Given the description of an element on the screen output the (x, y) to click on. 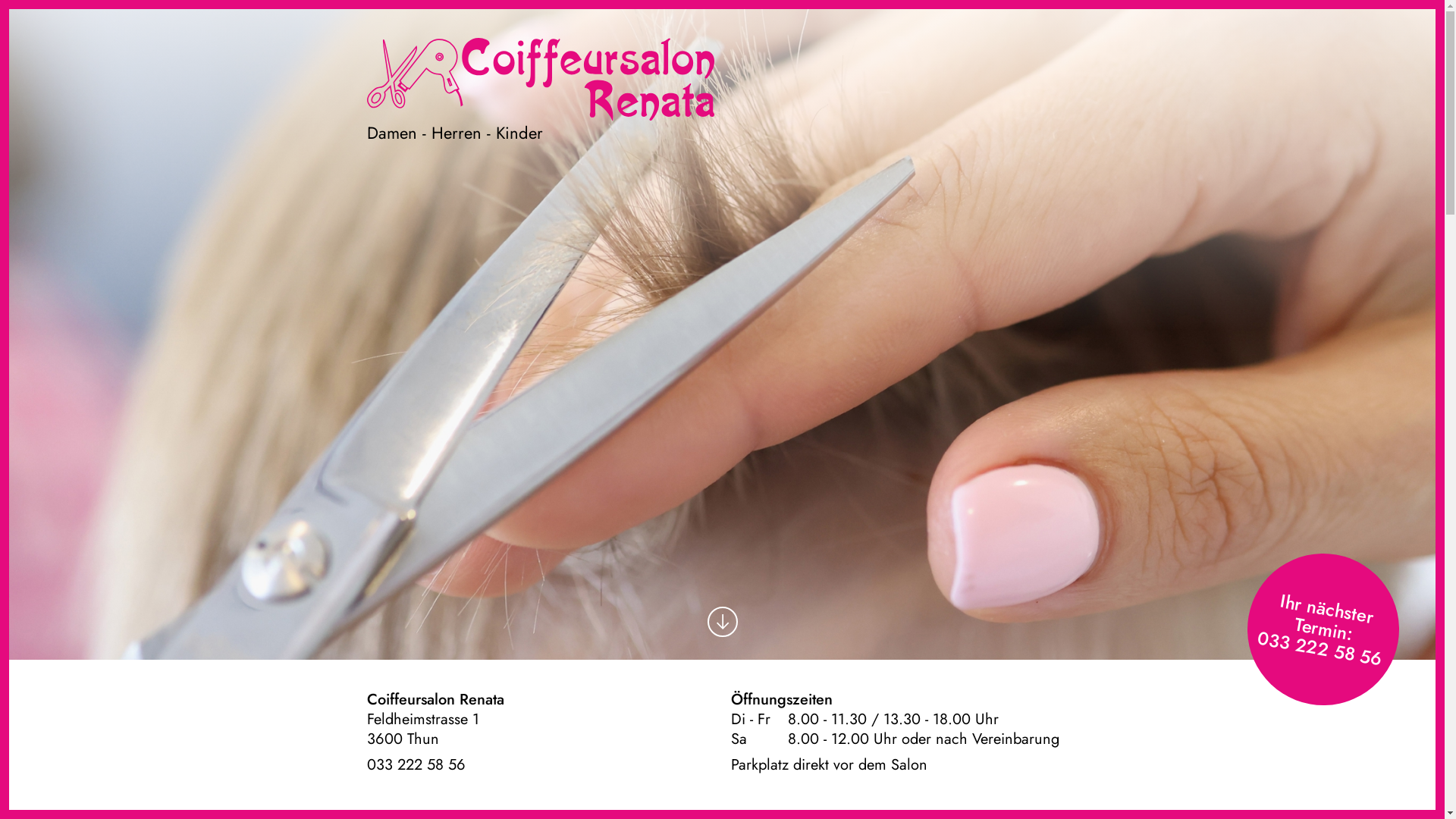
033 222 58 56 Element type: text (1318, 637)
033 222 58 56 Element type: text (416, 764)
